Given the description of an element on the screen output the (x, y) to click on. 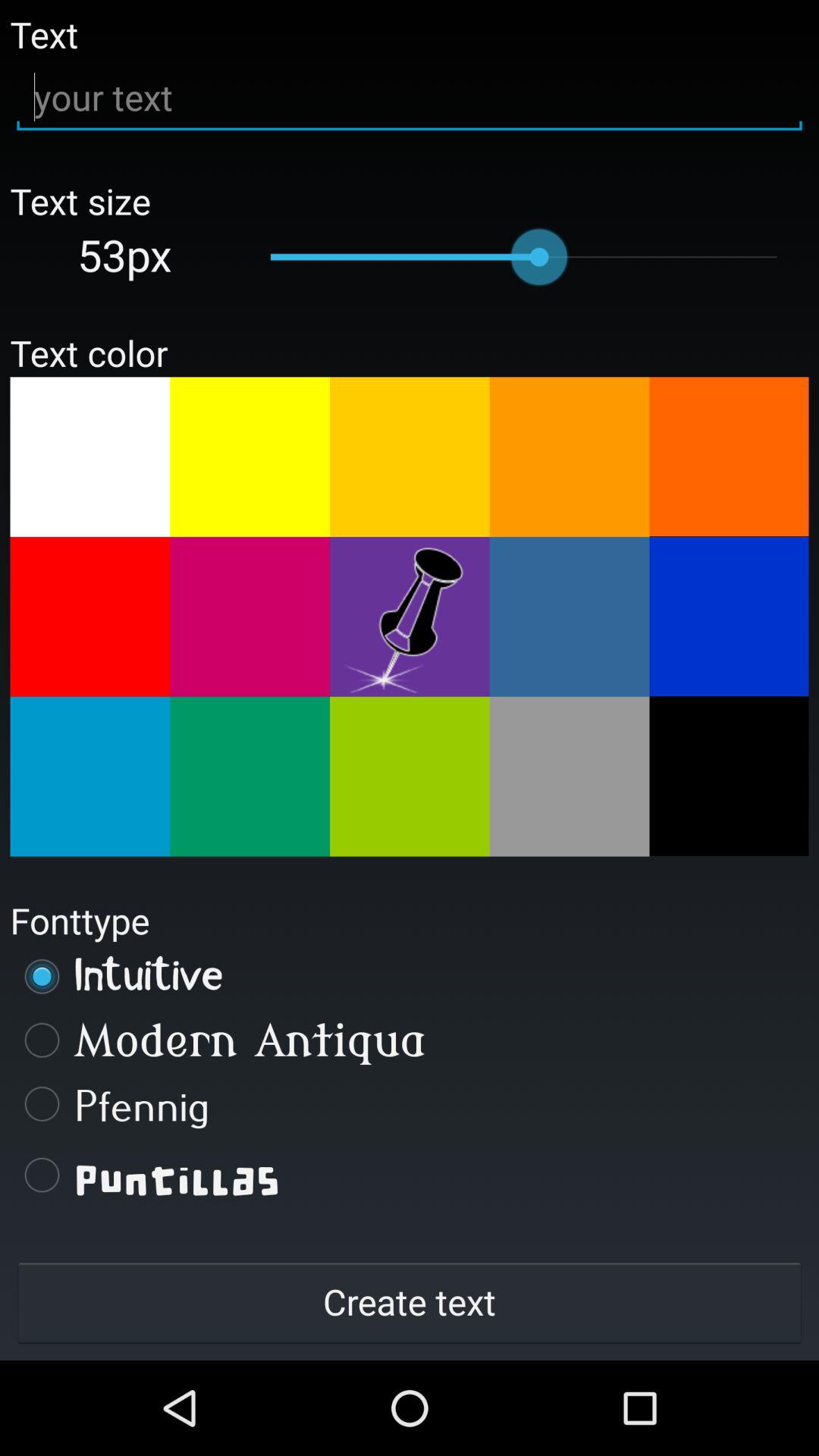
select text color (409, 616)
